Given the description of an element on the screen output the (x, y) to click on. 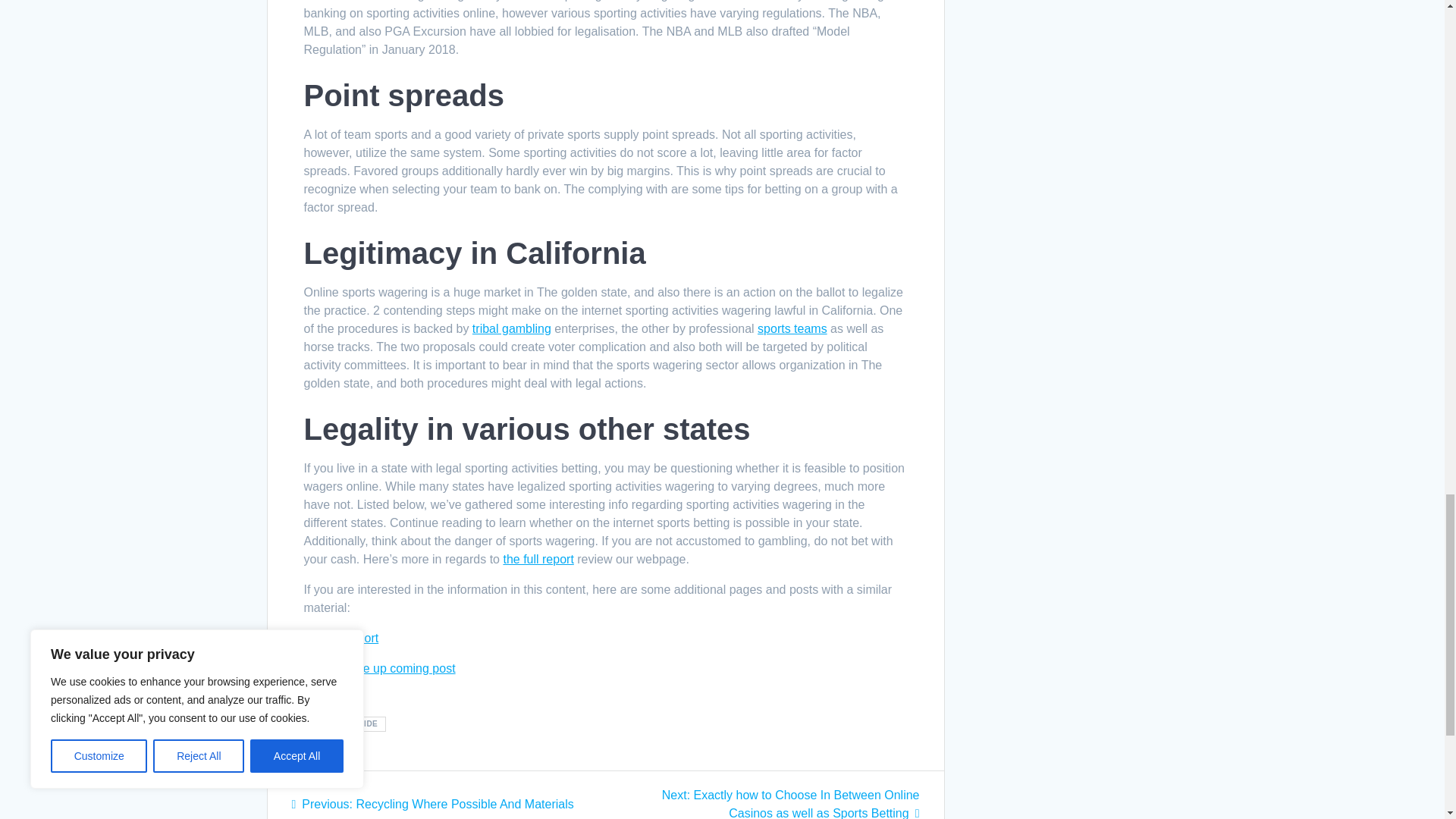
sports teams (792, 328)
tribal gambling (511, 328)
The full report (340, 637)
just click the up coming post (378, 667)
the full report (537, 558)
